Given the description of an element on the screen output the (x, y) to click on. 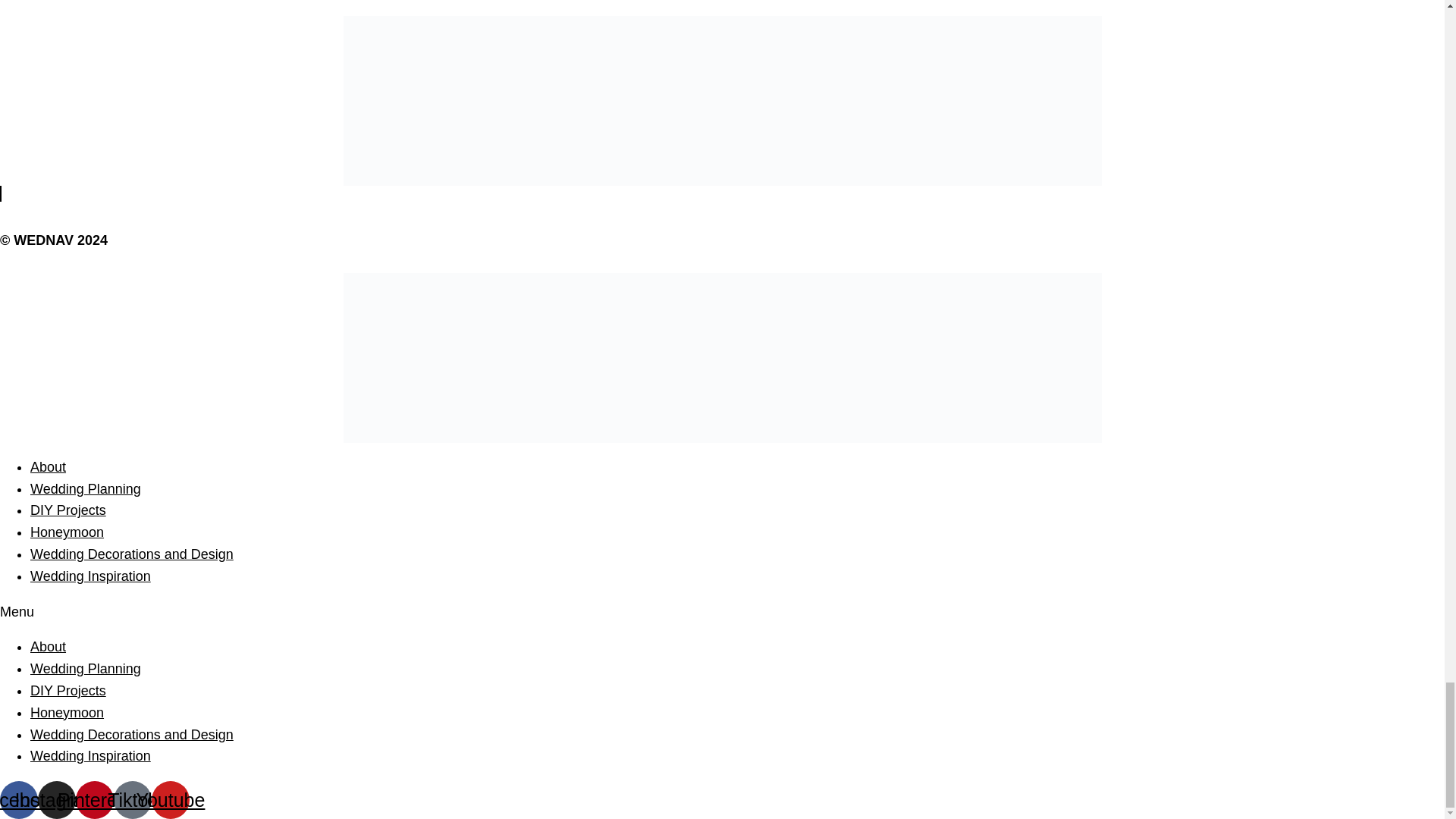
Wedding Decorations and Design (131, 734)
Honeymoon (66, 712)
Wedding Inspiration (90, 575)
About (47, 467)
Honeymoon (66, 531)
DIY Projects (68, 509)
Wedding Planning (85, 488)
Wedding Planning (85, 668)
About (47, 646)
DIY Projects (68, 690)
Wedding Decorations and Design (131, 554)
